Given the description of an element on the screen output the (x, y) to click on. 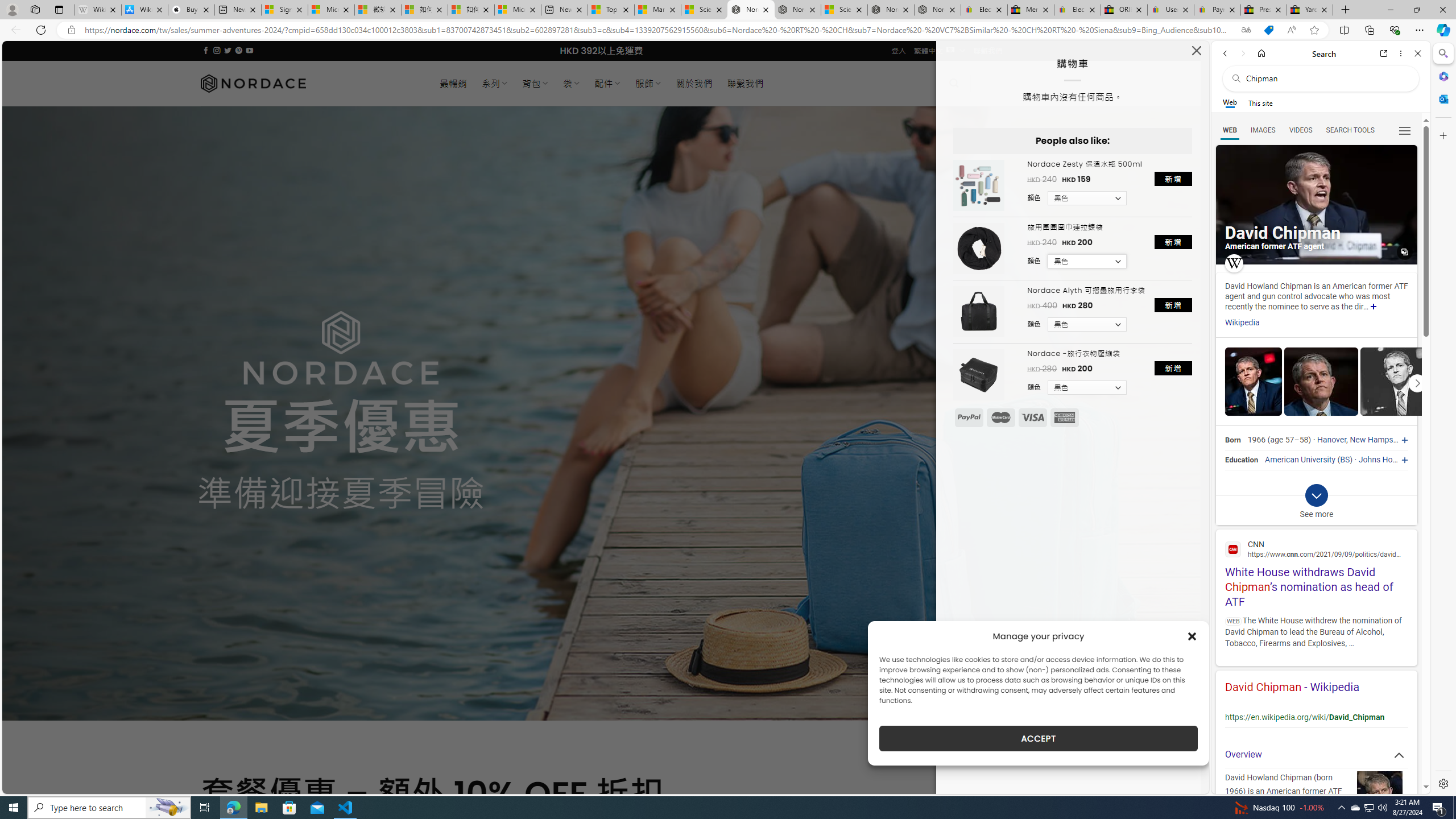
View details (1396, 382)
Follow on Twitter (227, 50)
Close tab (1324, 9)
Microsoft account | Account Checkup (517, 9)
Hanover (1331, 439)
View details (1396, 381)
